Given the description of an element on the screen output the (x, y) to click on. 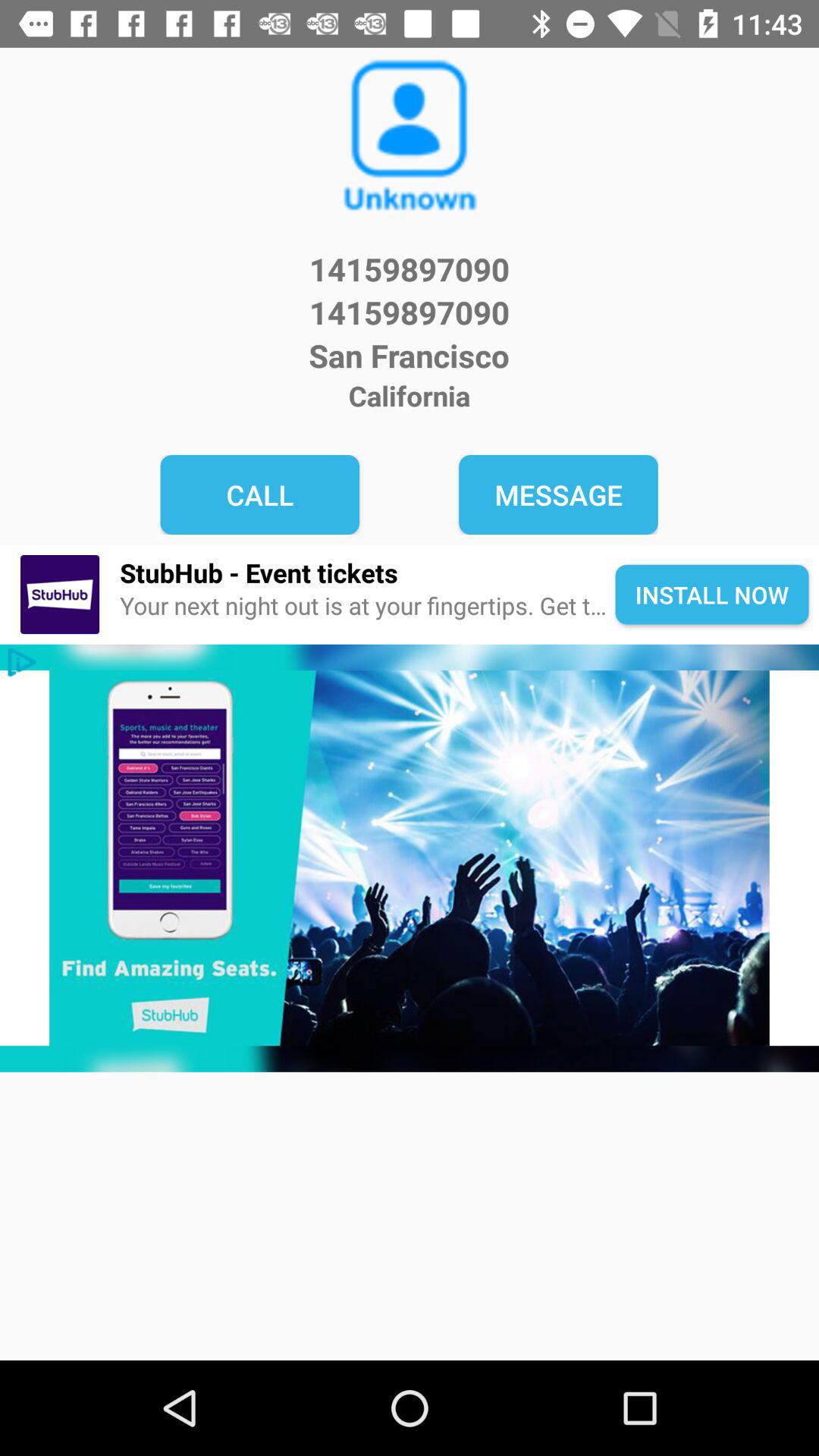
jump until the install now (711, 594)
